Given the description of an element on the screen output the (x, y) to click on. 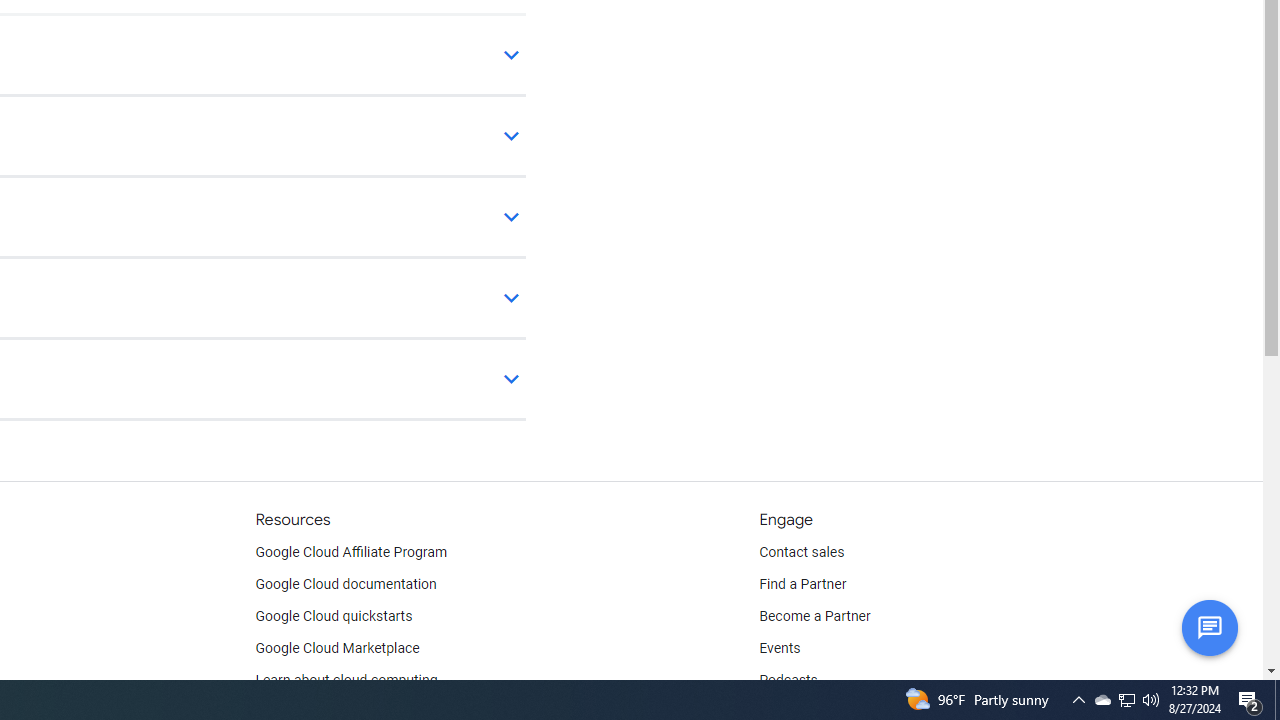
Podcasts (788, 680)
Become a Partner (814, 616)
Events (780, 648)
Google Cloud quickstarts (333, 616)
Google Cloud documentation (345, 584)
Button to activate chat (1209, 627)
Find a Partner (803, 584)
Contact sales (801, 552)
Google Cloud Affiliate Program (351, 552)
Learn about cloud computing (345, 680)
Google Cloud Marketplace (336, 648)
